Given the description of an element on the screen output the (x, y) to click on. 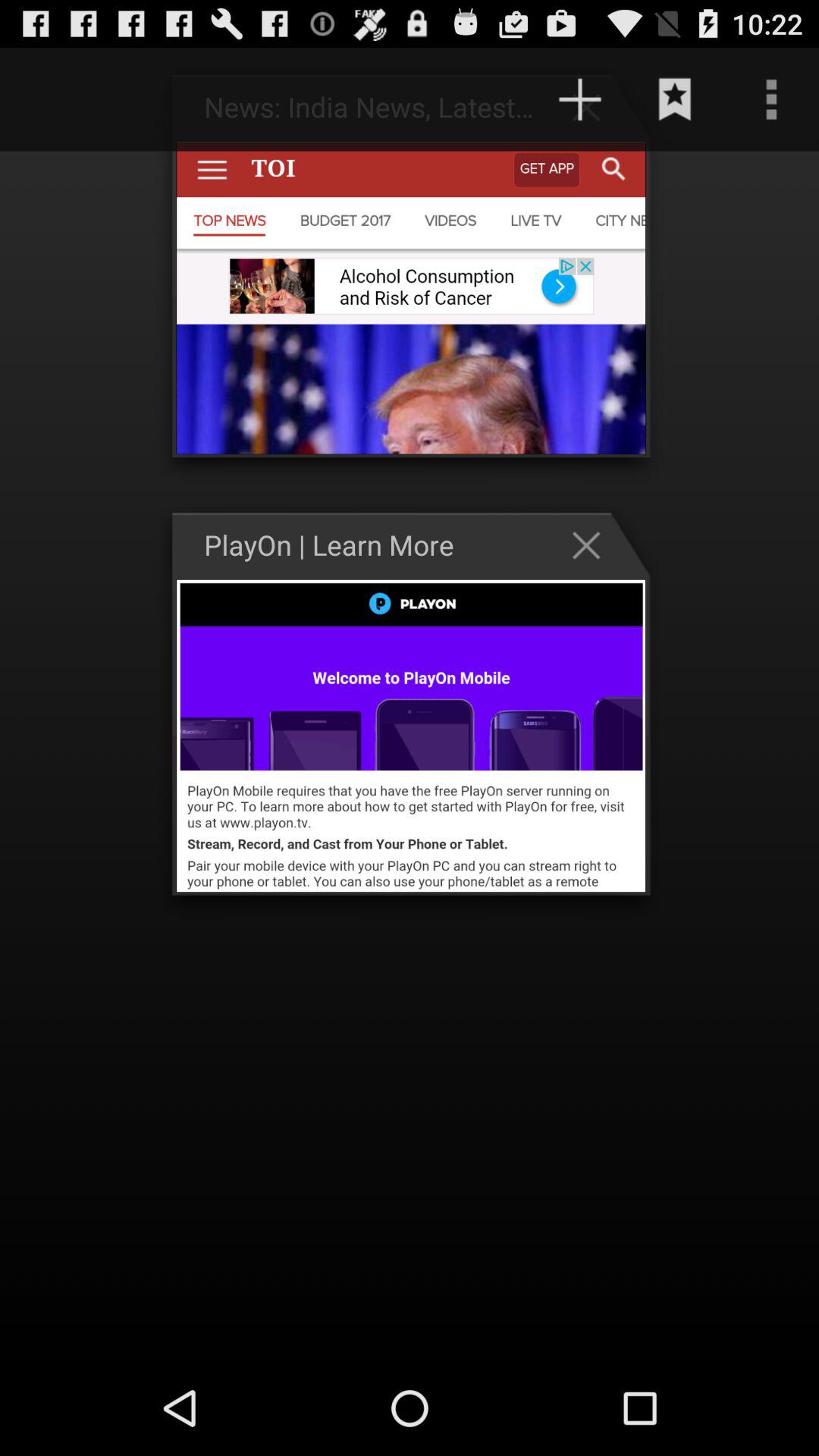
click on the button above get app (580, 99)
select the close button on the web page (594, 544)
click on the plus button at top of the page (594, 106)
move to the 2nd item below the close button on the web page (410, 735)
